Given the description of an element on the screen output the (x, y) to click on. 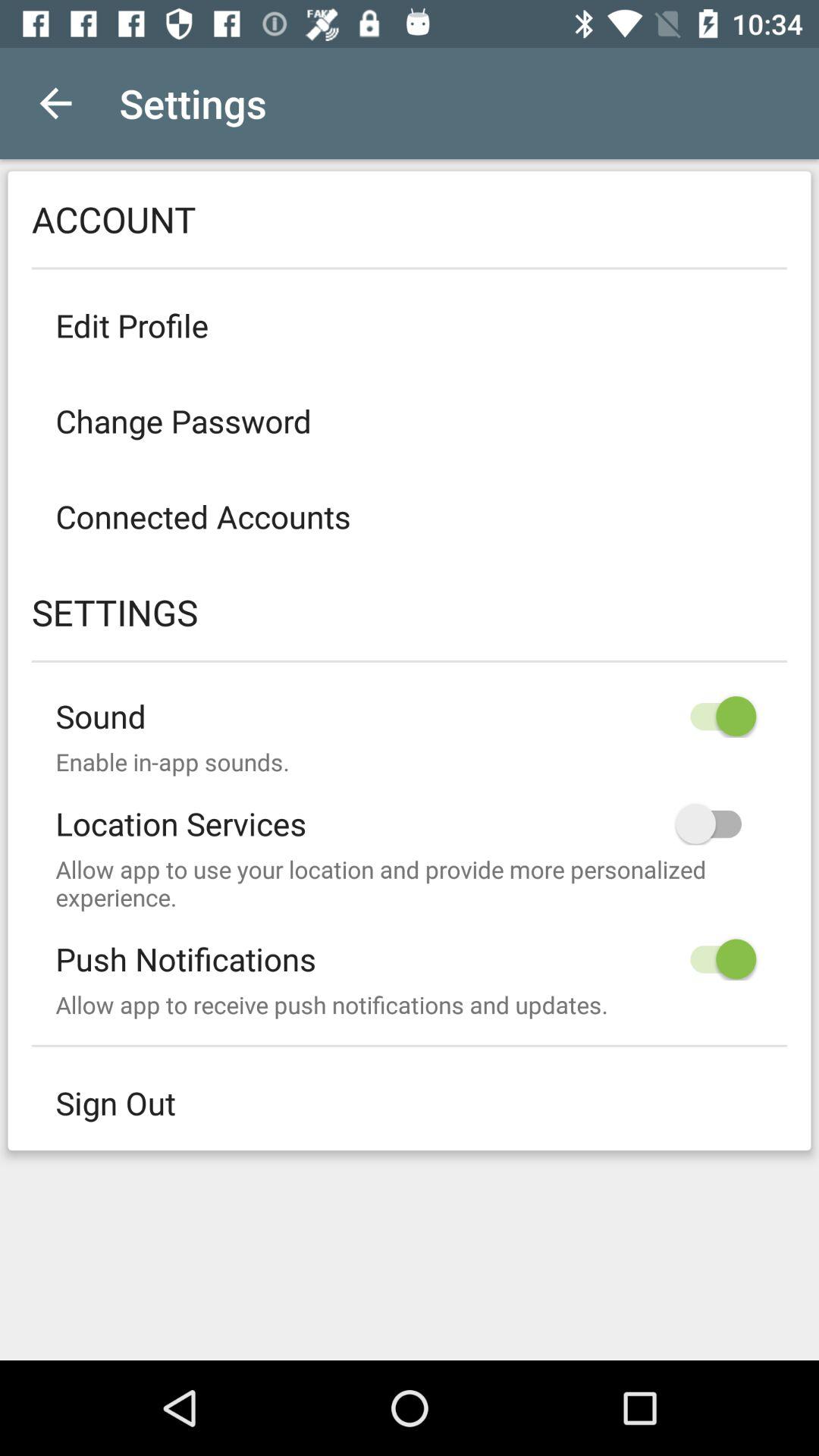
open the item to the left of settings (55, 103)
